Given the description of an element on the screen output the (x, y) to click on. 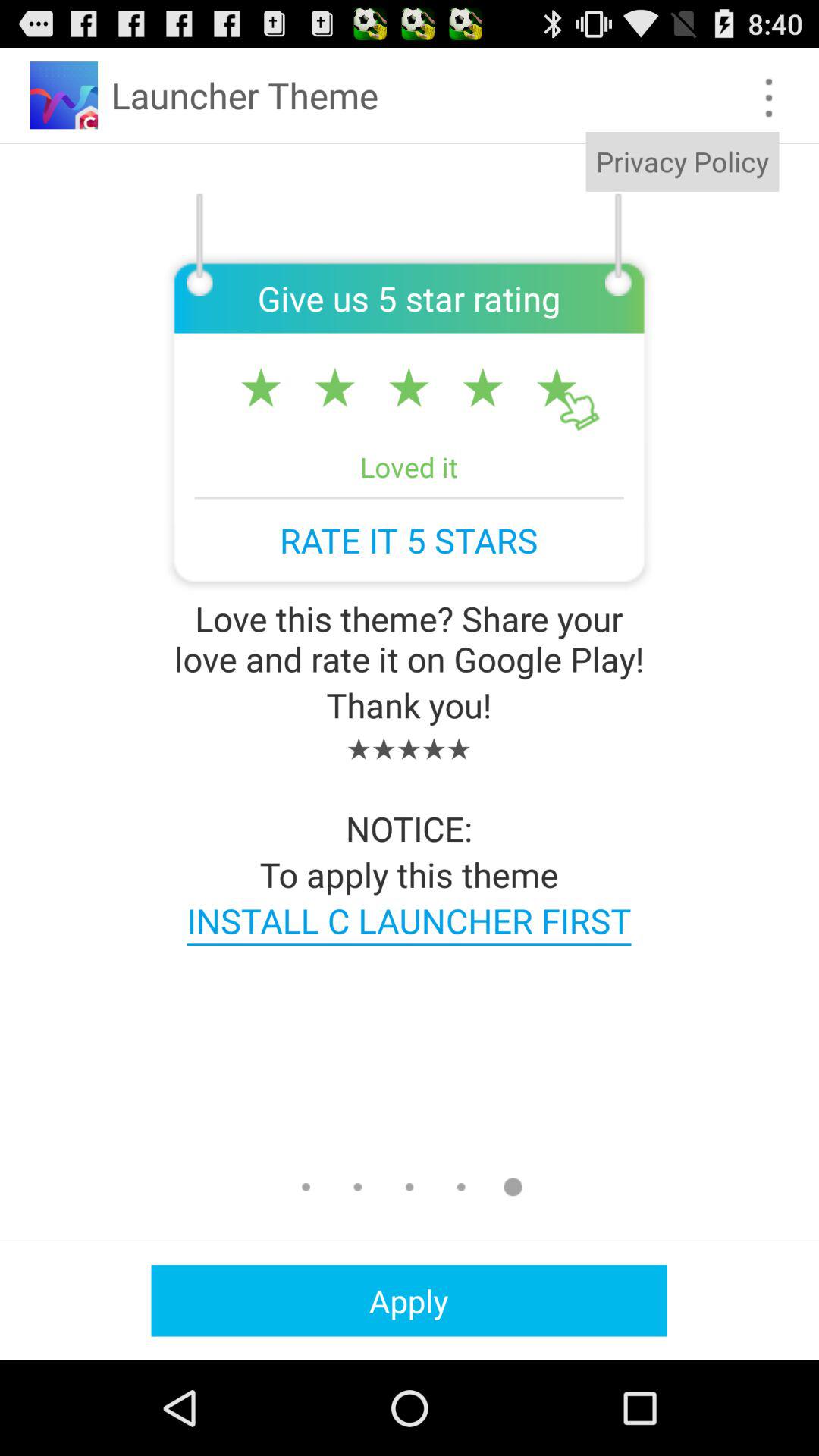
select app next to launcher theme app (768, 97)
